Given the description of an element on the screen output the (x, y) to click on. 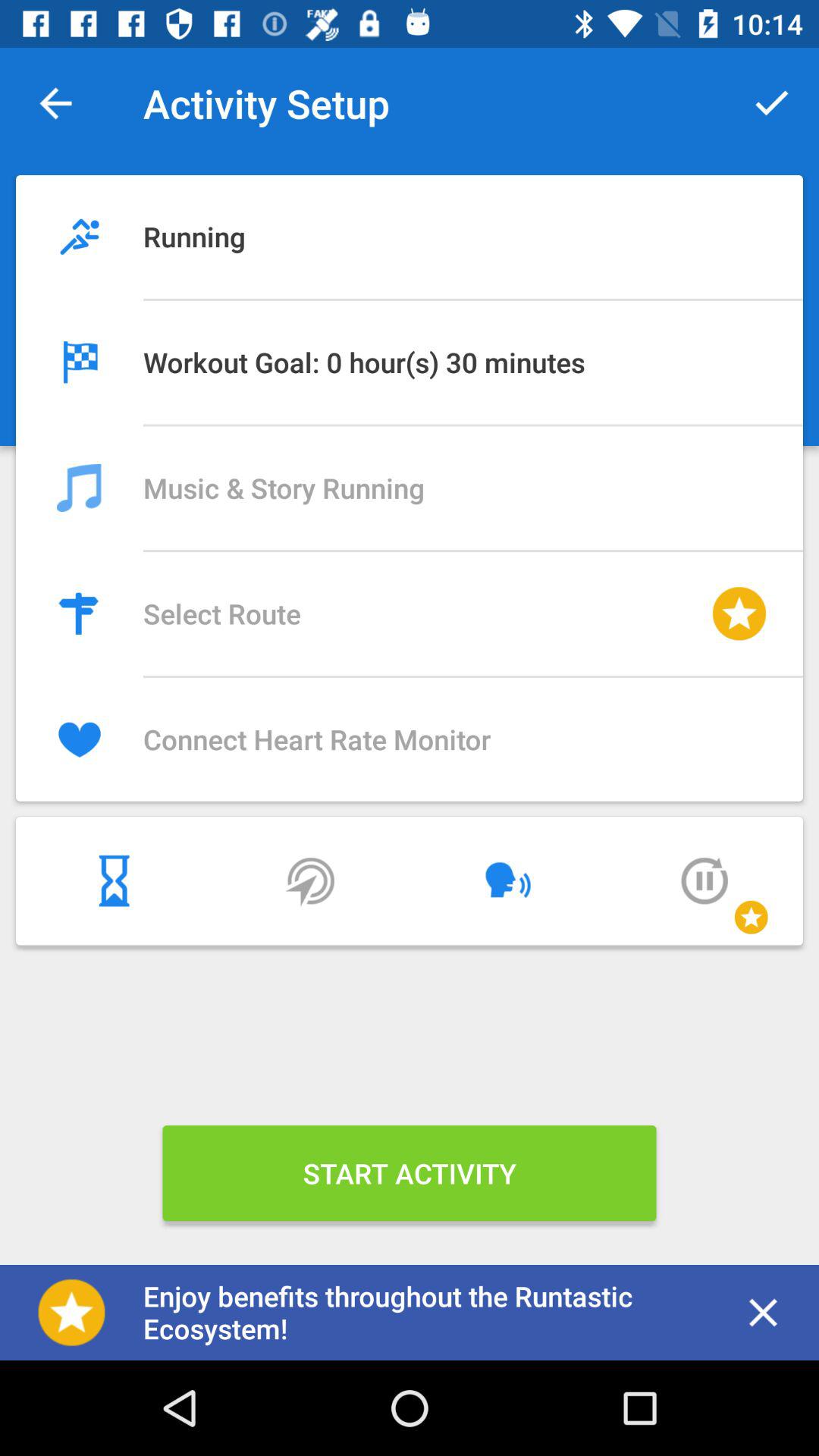
open the icon next to activity setup (771, 103)
